Given the description of an element on the screen output the (x, y) to click on. 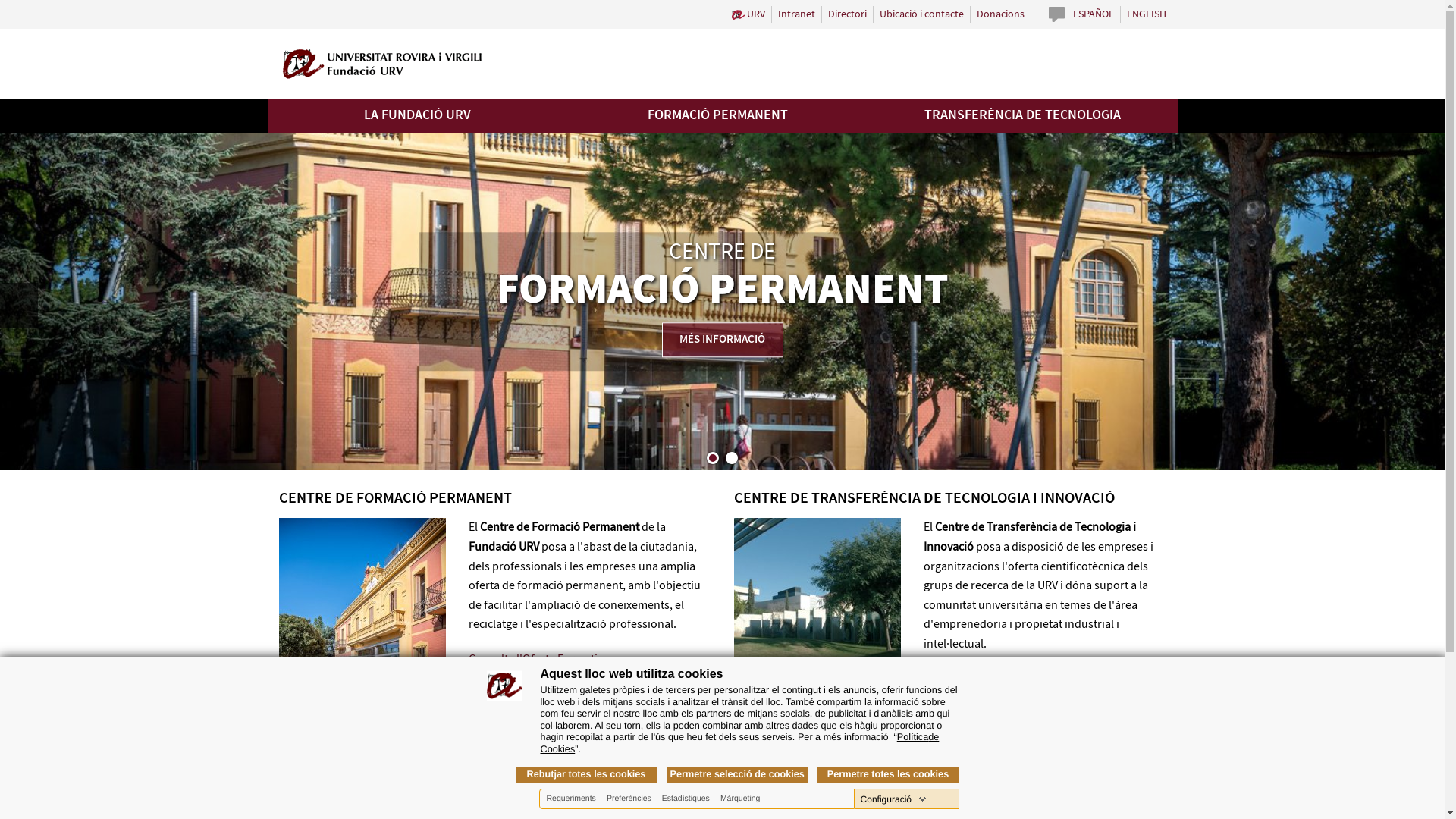
Donacions Element type: text (1000, 14)
URV Element type: text (747, 14)
formacio@fundacio.urv.cat Element type: text (538, 806)
Intranet Element type: text (796, 14)
Aneu al web Element type: text (362, 711)
ENGLISH Element type: text (1146, 14)
Directori Element type: text (847, 14)
Consulta l'Oferta de Tecnologies i Coneixements Element type: text (1008, 688)
Rebutjar totes les cookies Element type: text (586, 774)
de Cookies Element type: text (738, 742)
Permetre totes les cookies Element type: text (888, 774)
Aneu al web Element type: text (817, 711)
Consulta l'Oferta Formativa Element type: text (538, 659)
